Given the description of an element on the screen output the (x, y) to click on. 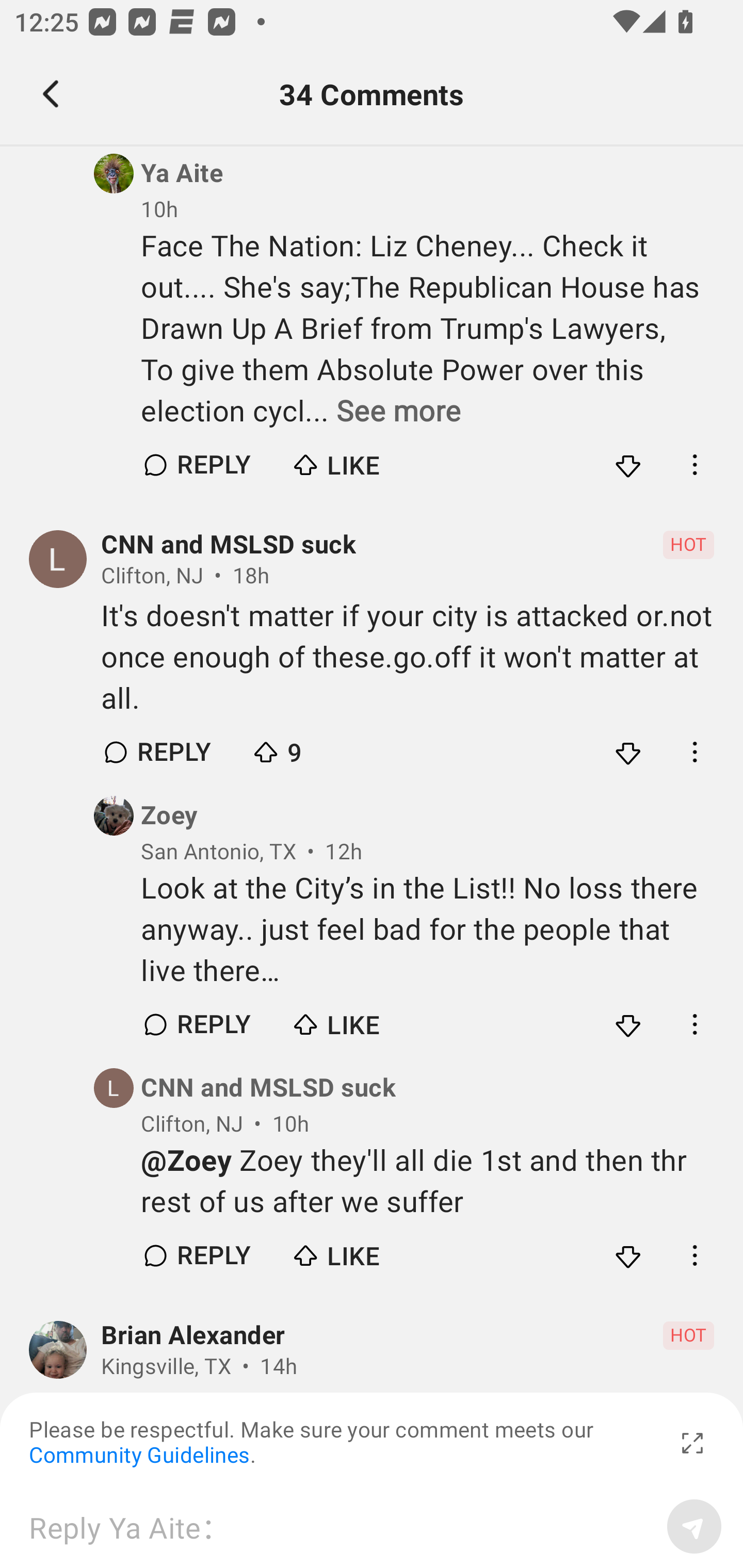
Reply Ya Aite： (340, 1526)
